Given the description of an element on the screen output the (x, y) to click on. 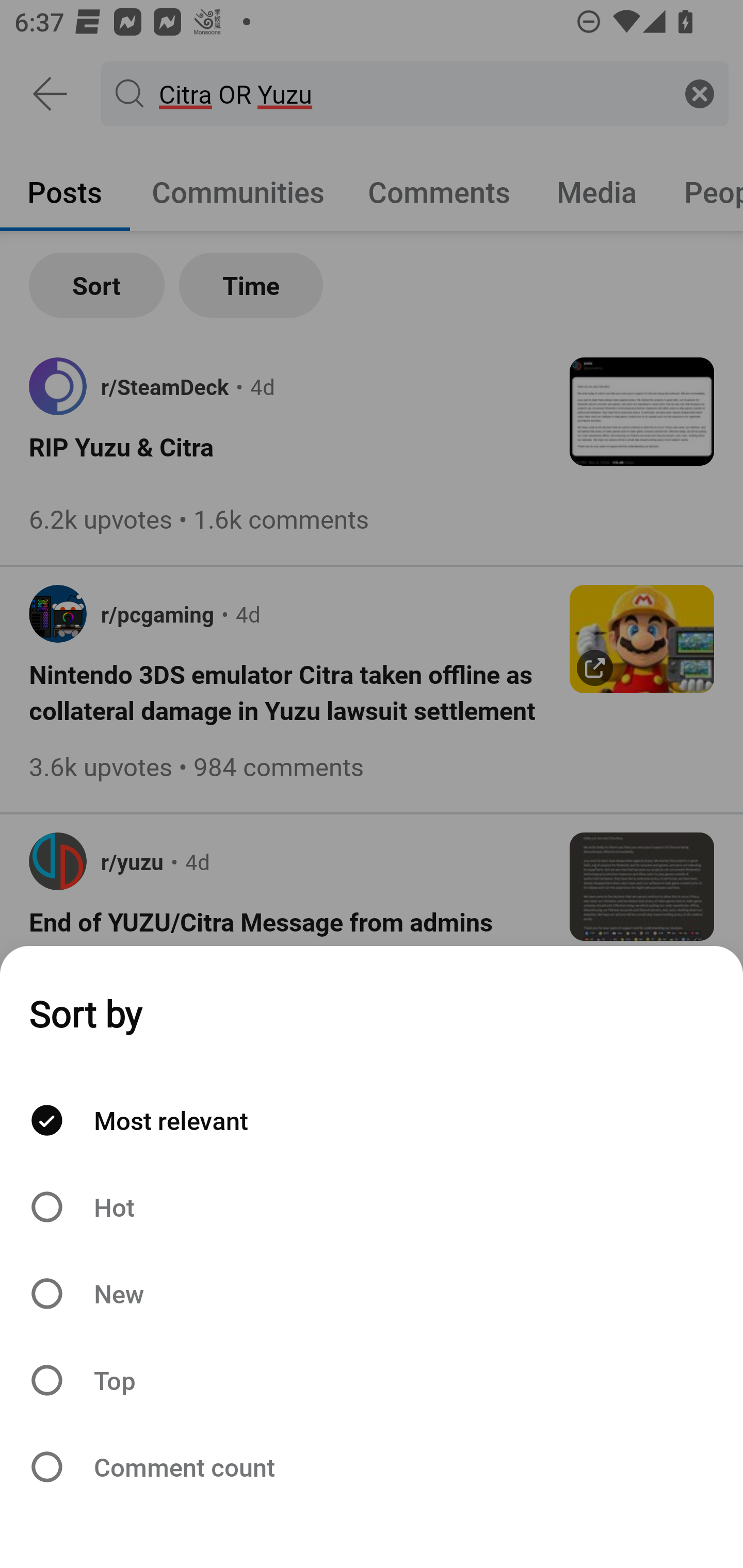
Sort by Most relevant Most relevant (371, 1120)
Sort by Hot Hot (371, 1206)
Sort by New New (371, 1293)
Sort by Top Top (371, 1380)
Sort by Comment count Comment count (371, 1466)
